Given the description of an element on the screen output the (x, y) to click on. 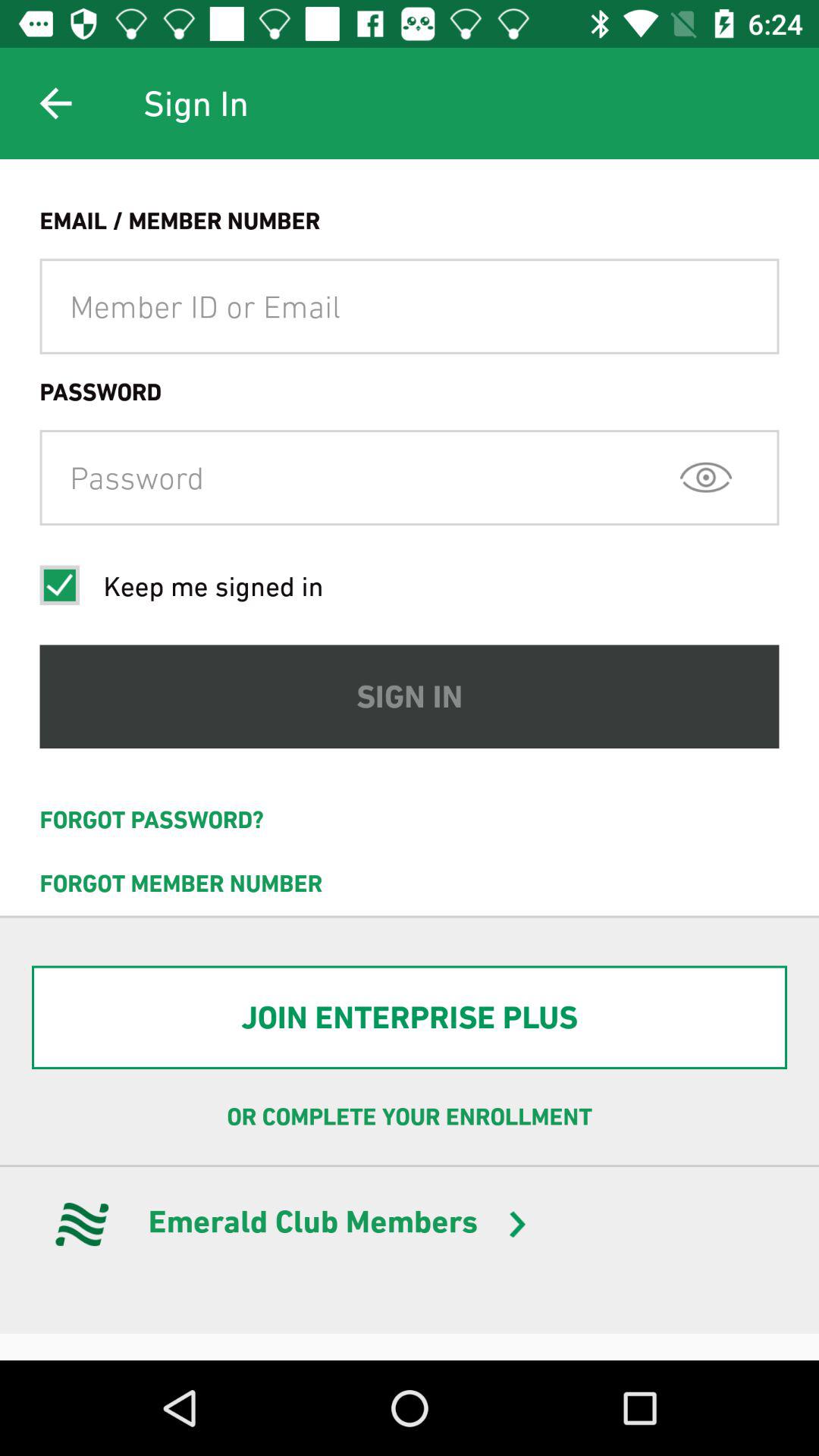
enter password (409, 477)
